Given the description of an element on the screen output the (x, y) to click on. 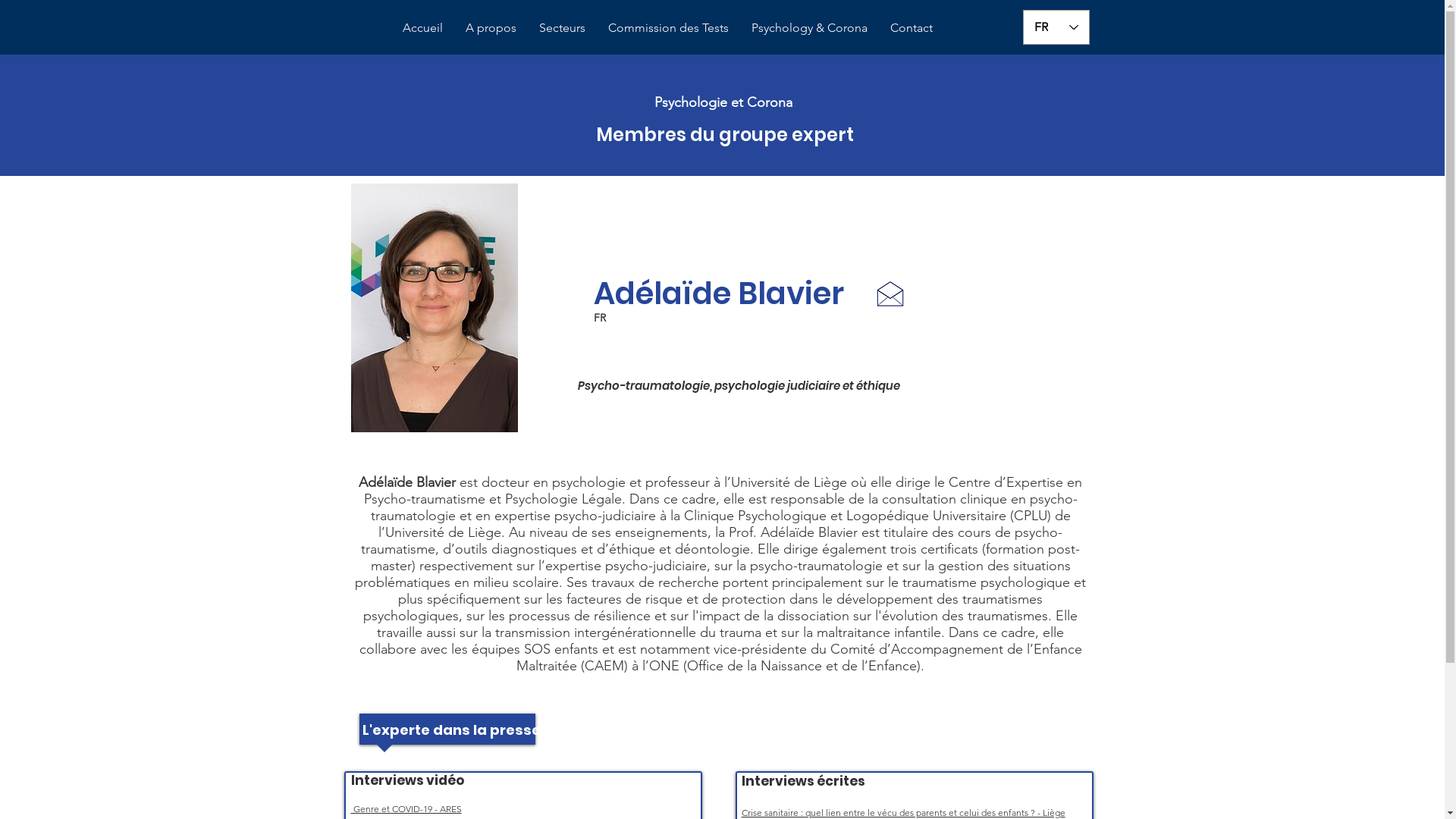
Commission des Tests Element type: text (668, 27)
A propos Element type: text (490, 27)
Psychology & Corona Element type: text (809, 27)
 Genre et COVID-19 - ARES Element type: text (405, 807)
Secteurs Element type: text (561, 27)
Accueil Element type: text (422, 27)
Contact Element type: text (911, 27)
